Given the description of an element on the screen output the (x, y) to click on. 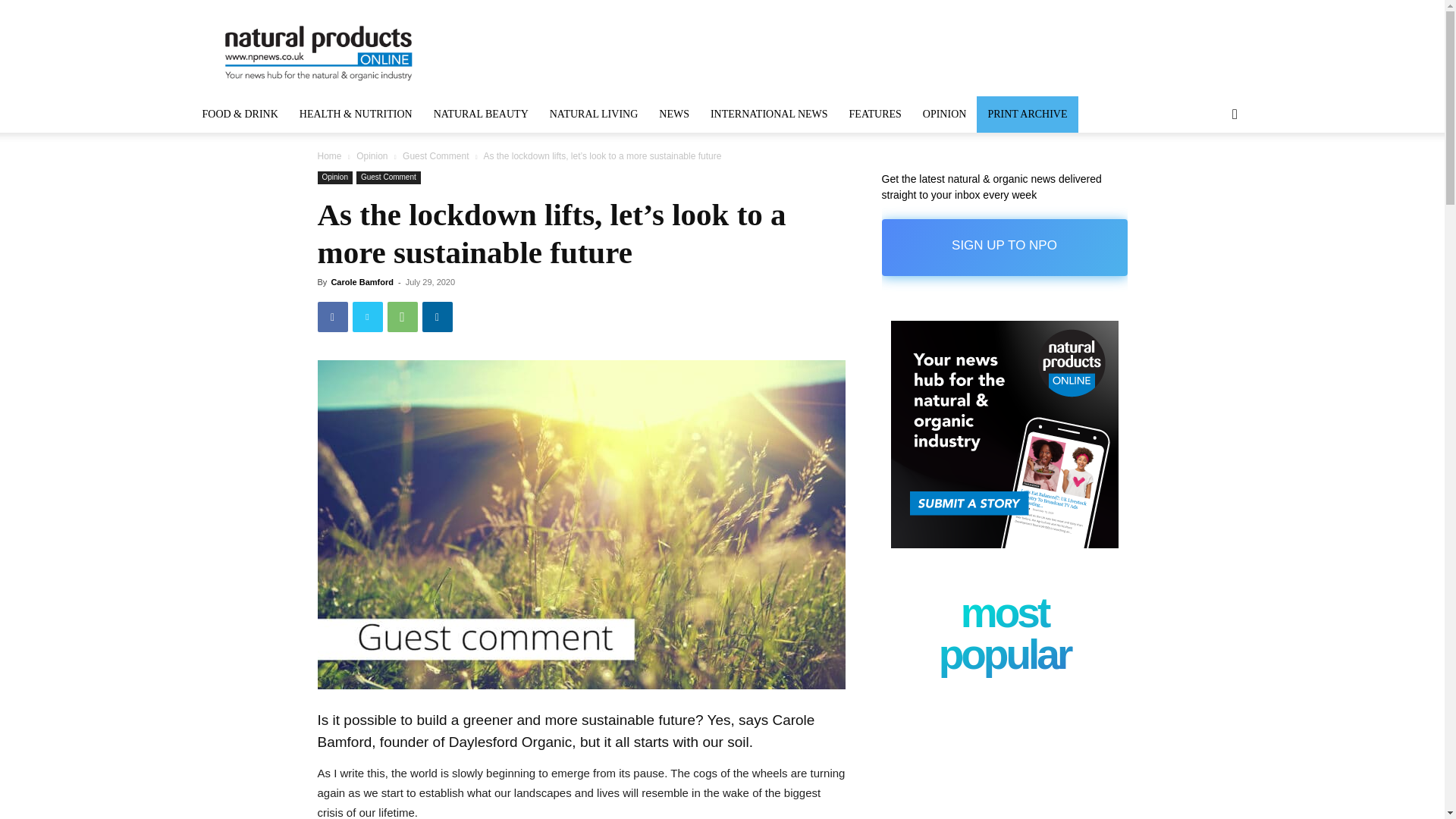
Twitter (366, 317)
View all posts in Opinion (371, 155)
INTERNATIONAL NEWS (769, 114)
Carole Bamford (361, 281)
OPINION (944, 114)
Guest Comment (388, 177)
Linkedin (436, 317)
Home (328, 155)
WhatsApp (401, 317)
Facebook (332, 317)
FEATURES (875, 114)
NATURAL BEAUTY (480, 114)
NATURAL LIVING (593, 114)
NEWS (673, 114)
Guest Comment (435, 155)
